Given the description of an element on the screen output the (x, y) to click on. 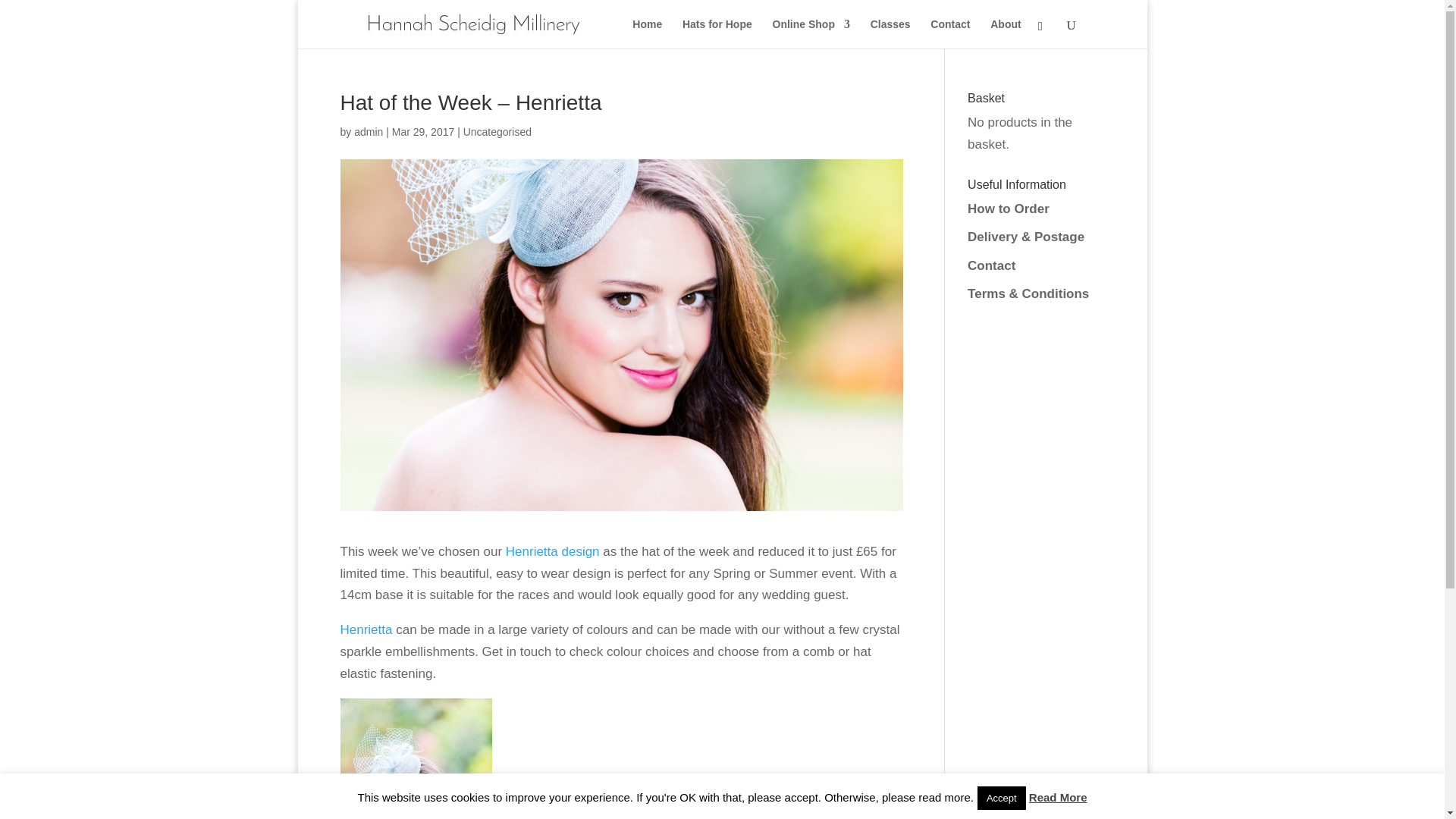
Home (646, 33)
Uncategorised (497, 132)
Classes (890, 33)
Online Shop (809, 33)
admin (367, 132)
Accept (1001, 797)
Henrietta (365, 629)
Posts by admin (367, 132)
Read More (1058, 797)
Hats for Hope (717, 33)
Henrietta design (552, 551)
How to Order (1008, 208)
Contact (991, 265)
Contact (949, 33)
About (1005, 33)
